Given the description of an element on the screen output the (x, y) to click on. 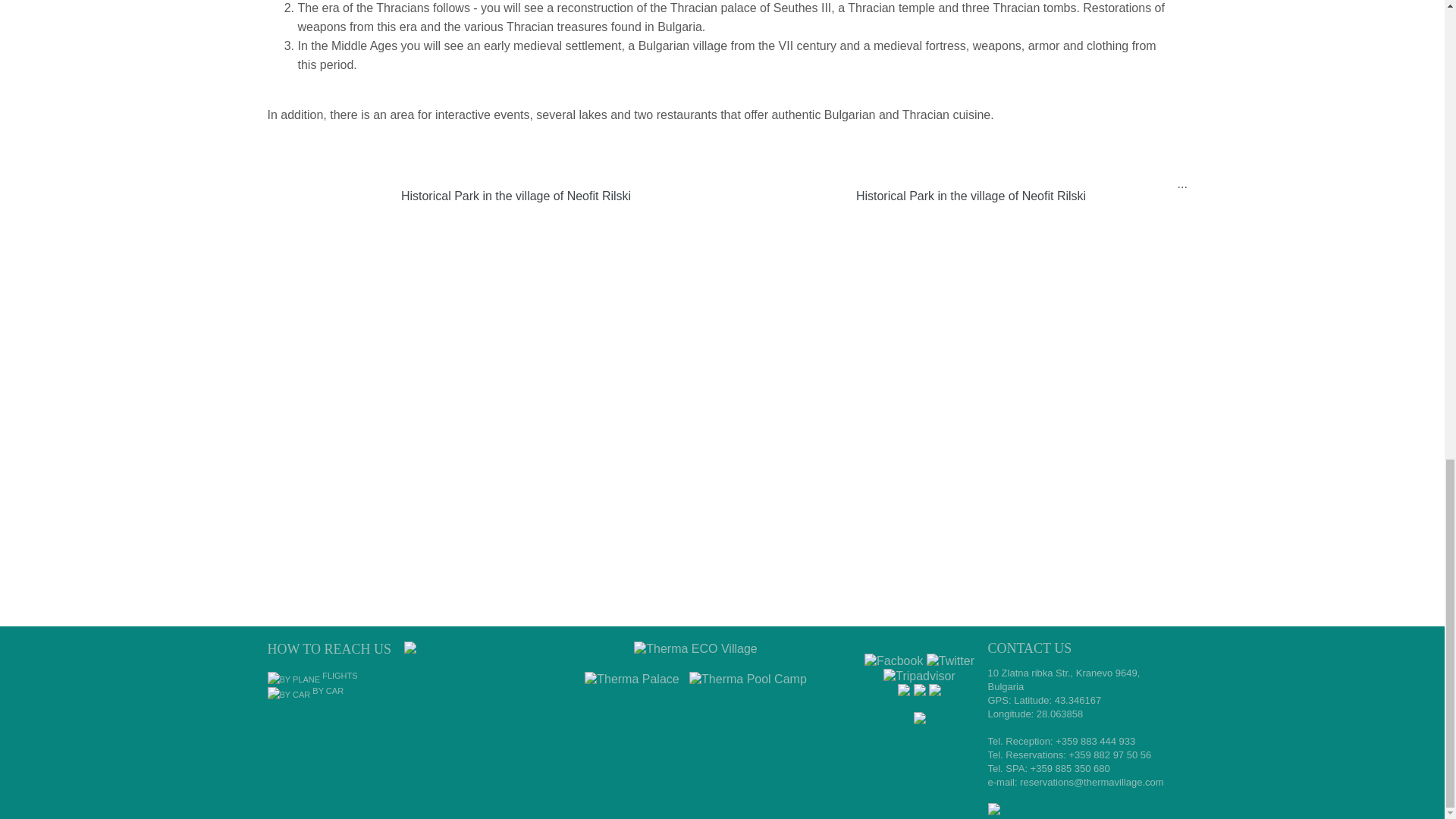
By car (304, 690)
Historical Park in the village of Neofit Rilski (494, 195)
By plane (311, 675)
Historical Park in the village of Neofit Rilski (949, 195)
